Given the description of an element on the screen output the (x, y) to click on. 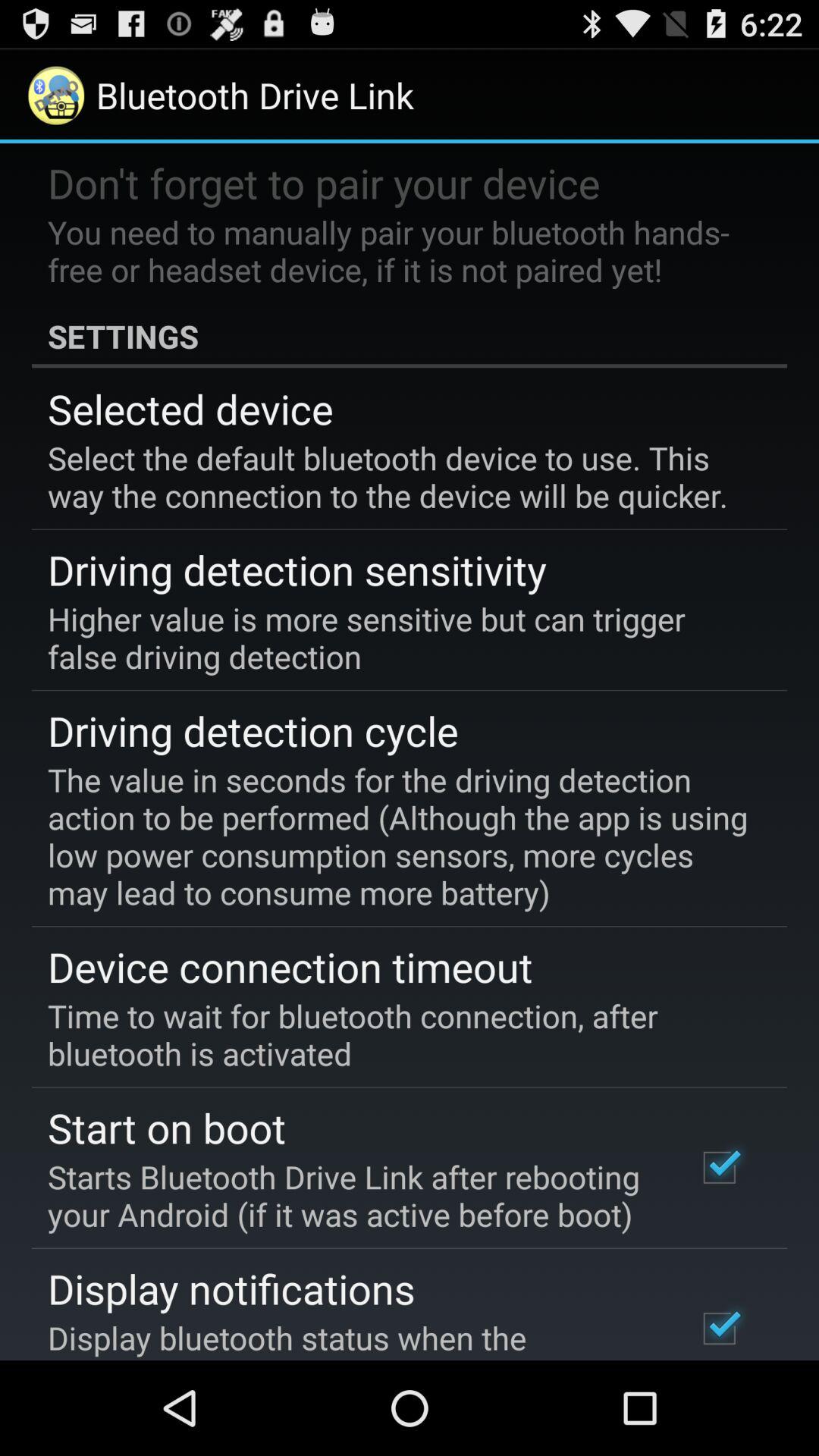
open the display bluetooth status item (351, 1338)
